Given the description of an element on the screen output the (x, y) to click on. 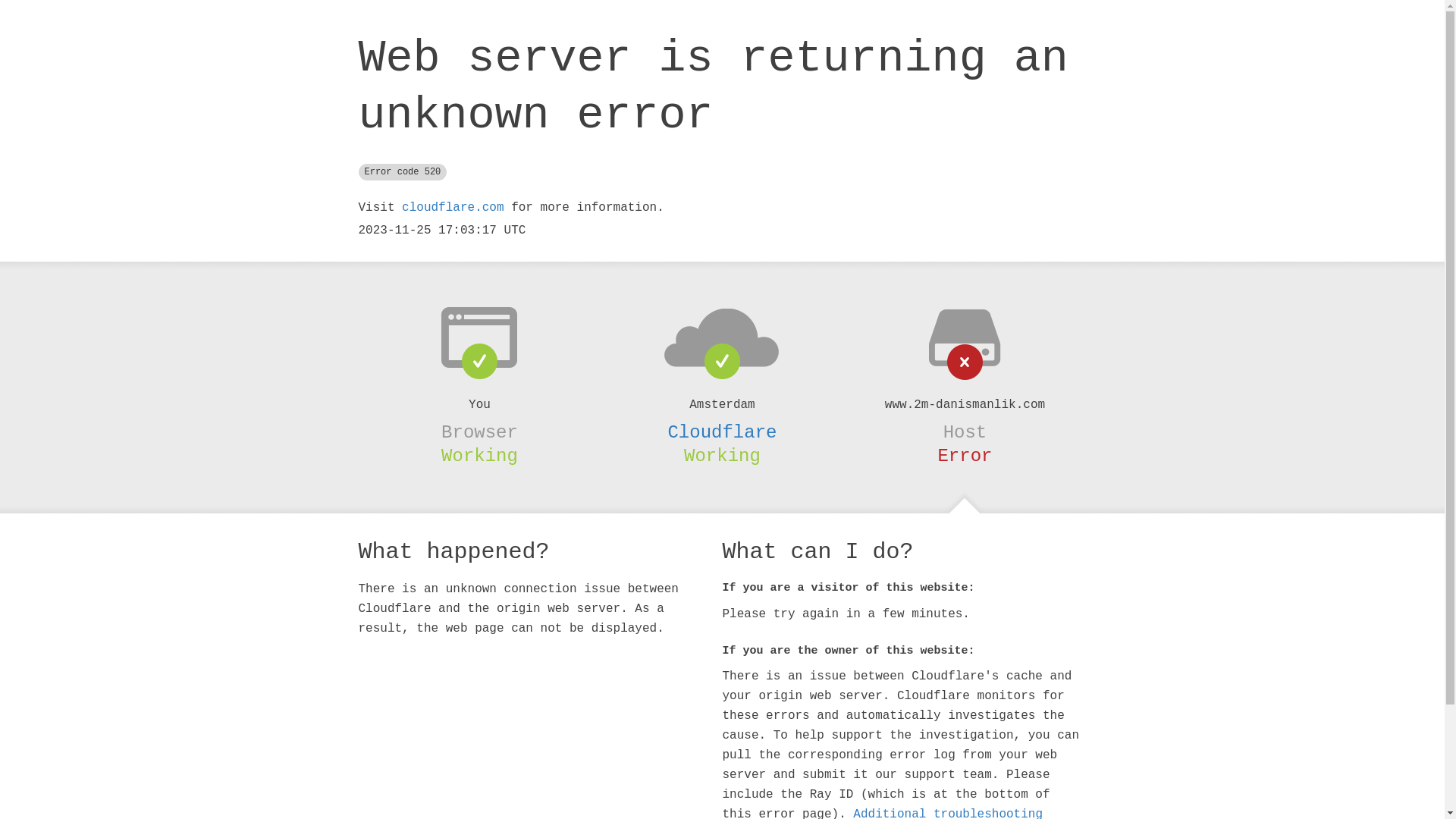
cloudflare.com Element type: text (452, 207)
Cloudflare Element type: text (721, 432)
